Given the description of an element on the screen output the (x, y) to click on. 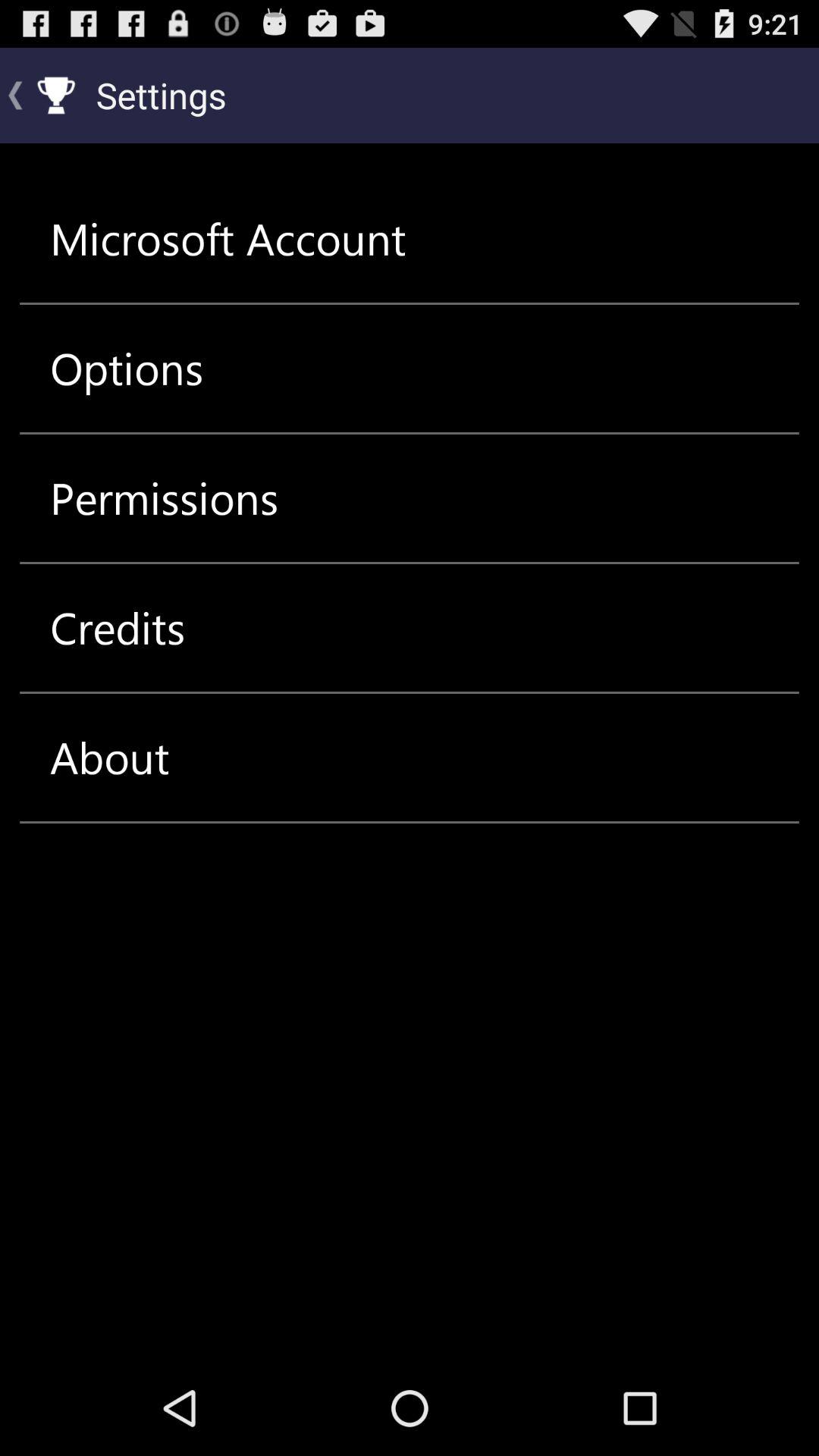
flip to microsoft account icon (228, 238)
